Given the description of an element on the screen output the (x, y) to click on. 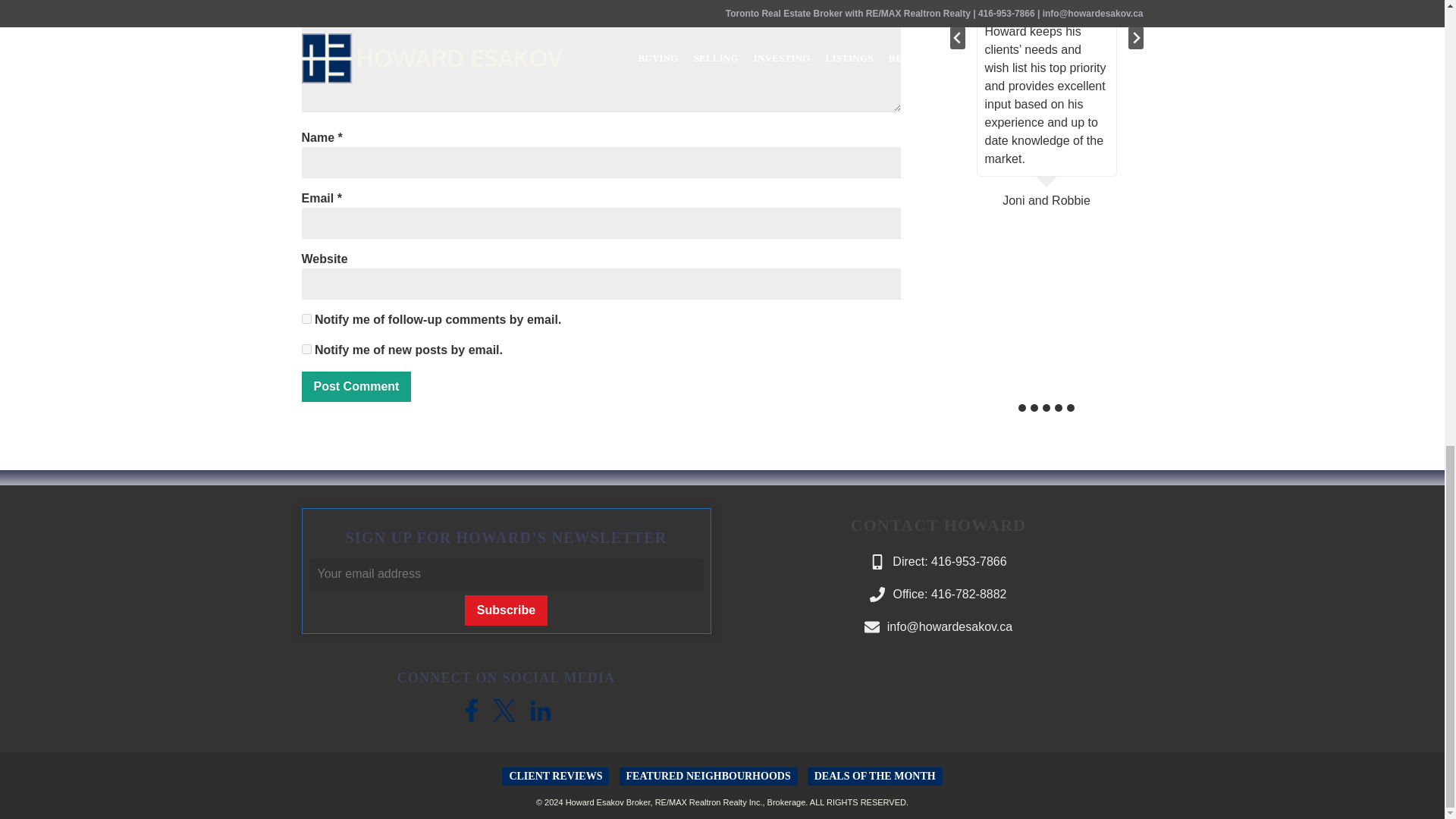
subscribe (306, 348)
Post Comment (356, 386)
Post Comment (356, 386)
subscribe (306, 318)
Subscribe (505, 610)
